Given the description of an element on the screen output the (x, y) to click on. 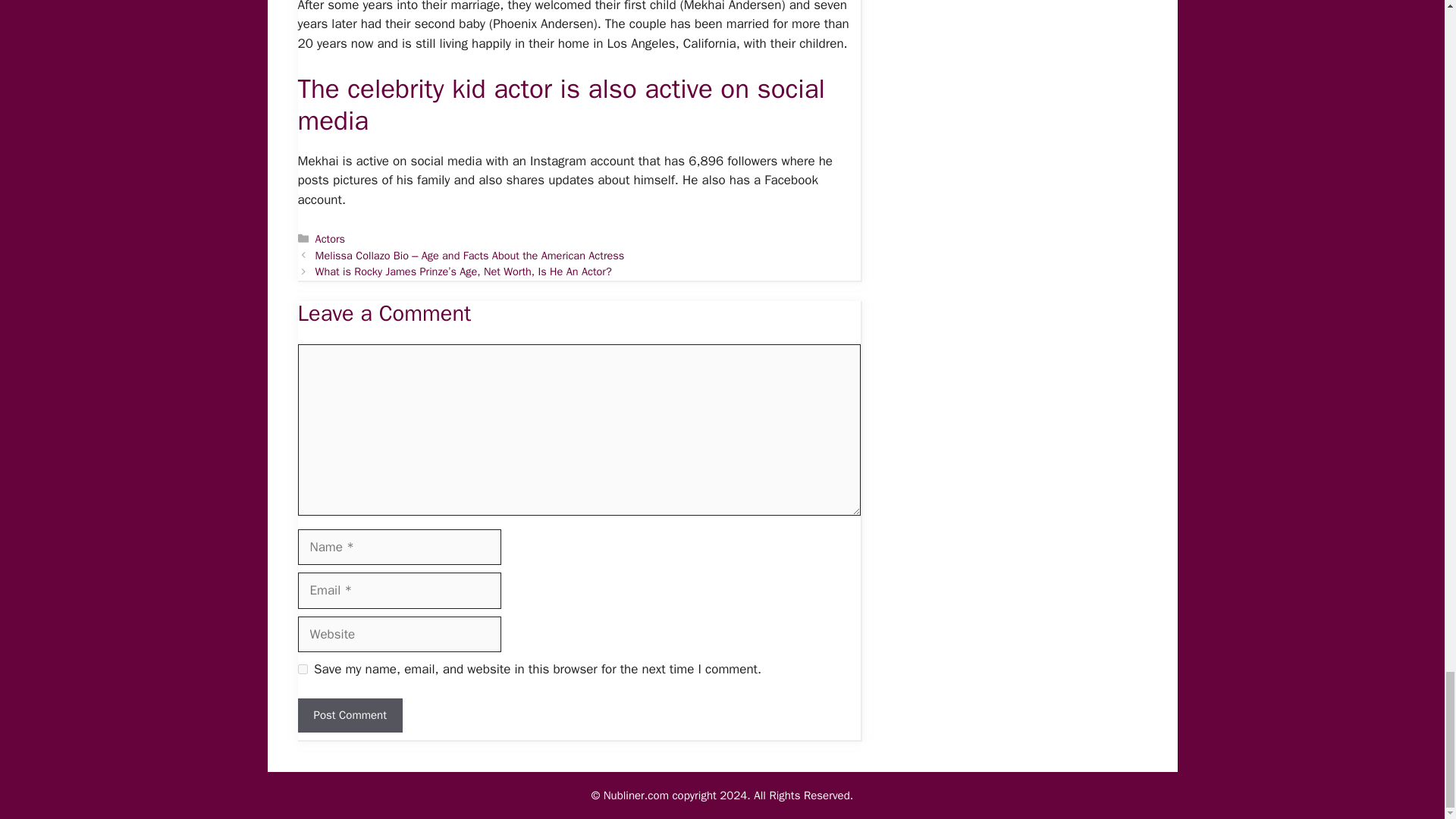
Actors (330, 238)
Previous (469, 255)
Post Comment (349, 715)
Post Comment (349, 715)
Next (463, 271)
yes (302, 669)
